Given the description of an element on the screen output the (x, y) to click on. 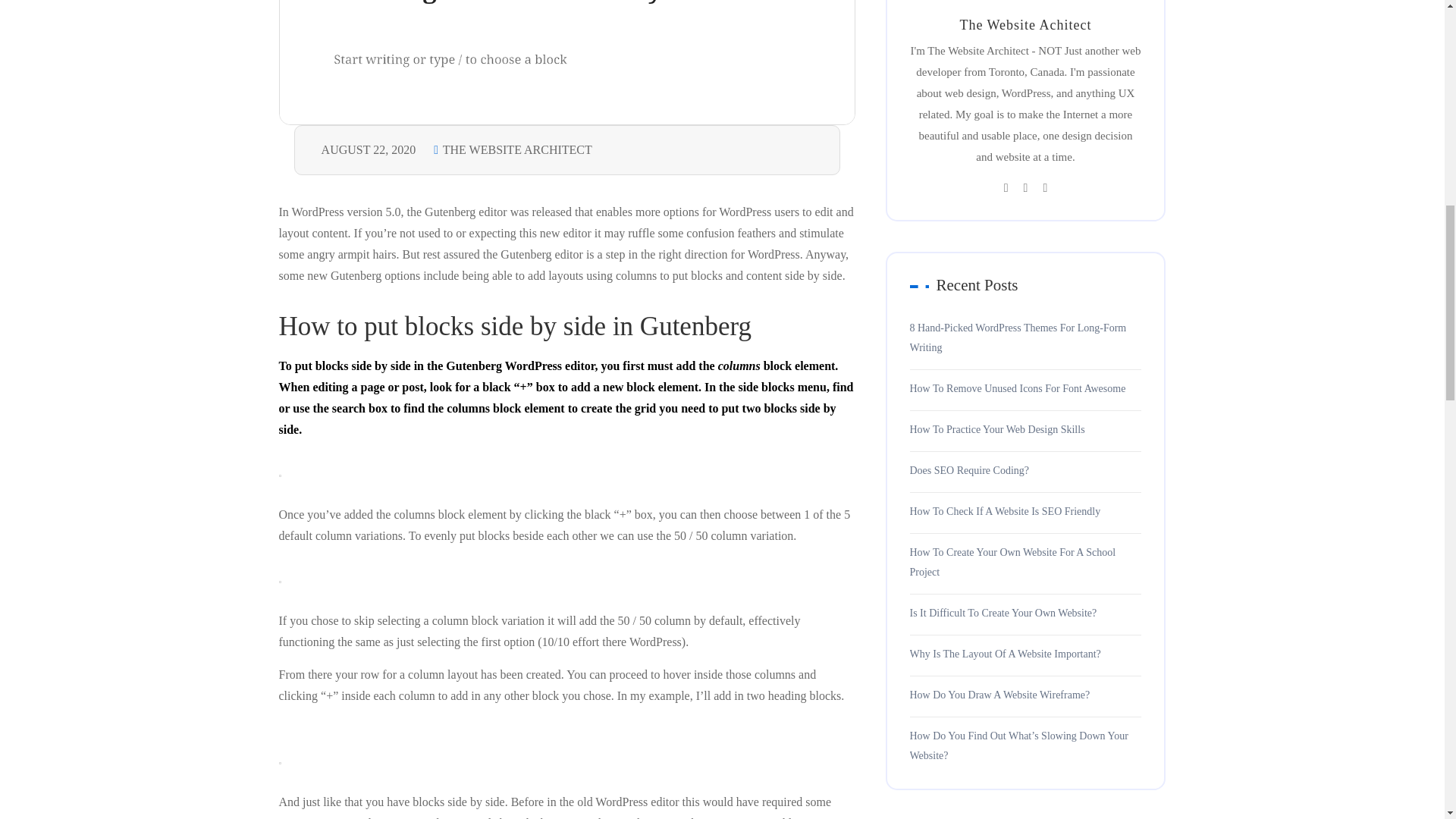
Is It Difficult To Create Your Own Website? (1003, 613)
How To Remove Unused Icons For Font Awesome (1017, 388)
8 Hand-Picked WordPress Themes For Long-Form Writing (1025, 337)
How To Check If A Website Is SEO Friendly (1005, 511)
THE WEBSITE ARCHITECT (512, 149)
How To Create Your Own Website For A School Project (1025, 562)
How To Practice Your Web Design Skills (997, 429)
Does SEO Require Coding? (969, 470)
